Given the description of an element on the screen output the (x, y) to click on. 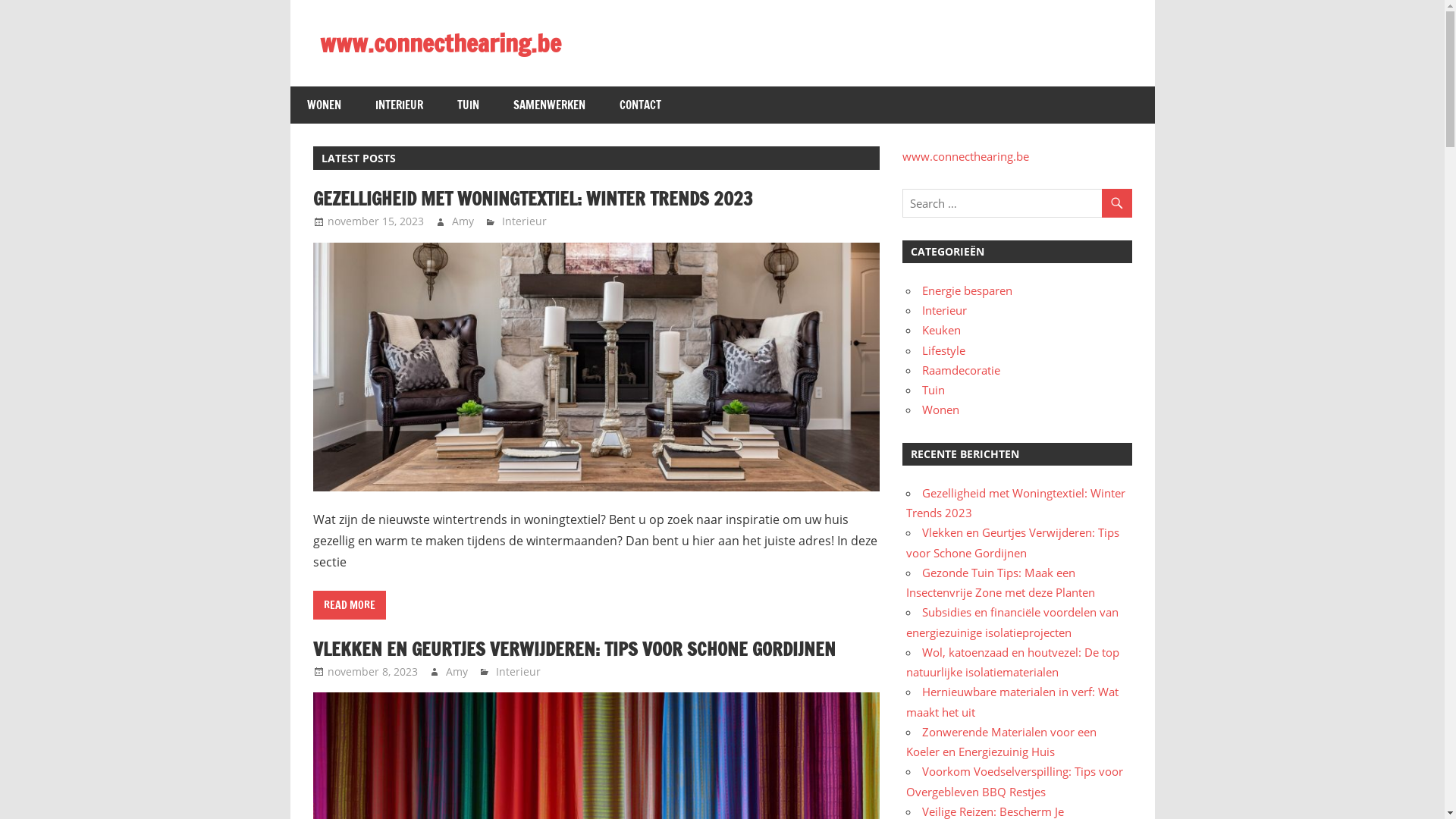
Tuin Element type: text (933, 389)
CONTACT Element type: text (639, 104)
GEZELLIGHEID MET WONINGTEXTIEL: WINTER TRENDS 2023 Element type: text (532, 198)
Search for: Element type: hover (1016, 202)
Raamdecoratie Element type: text (961, 369)
Vlekken en Geurtjes Verwijderen: Tips voor Schone Gordijnen Element type: text (1012, 541)
november 8, 2023 Element type: text (372, 671)
Gezelligheid met Woningtextiel: Winter Trends 2023 Element type: text (1015, 502)
Interieur Element type: text (524, 220)
Amy Element type: text (456, 671)
november 15, 2023 Element type: text (375, 220)
Zonwerende Materialen voor een Koeler en Energiezuinig Huis Element type: text (1001, 741)
SAMENWERKEN Element type: text (548, 104)
READ MORE Element type: text (348, 605)
Lifestyle Element type: text (943, 349)
WONEN Element type: text (323, 104)
Energie besparen Element type: text (967, 290)
Wonen Element type: text (940, 409)
Amy Element type: text (462, 220)
TUIN Element type: text (467, 104)
Hernieuwbare materialen in verf: Wat maakt het uit Element type: text (1012, 701)
Interieur Element type: text (517, 671)
VLEKKEN EN GEURTJES VERWIJDEREN: TIPS VOOR SCHONE GORDIJNEN Element type: text (573, 649)
www.connecthearing.be Element type: text (965, 155)
INTERIEUR Element type: text (398, 104)
Interieur Element type: text (944, 309)
Keuken Element type: text (941, 329)
www.connecthearing.be Element type: text (440, 42)
